Given the description of an element on the screen output the (x, y) to click on. 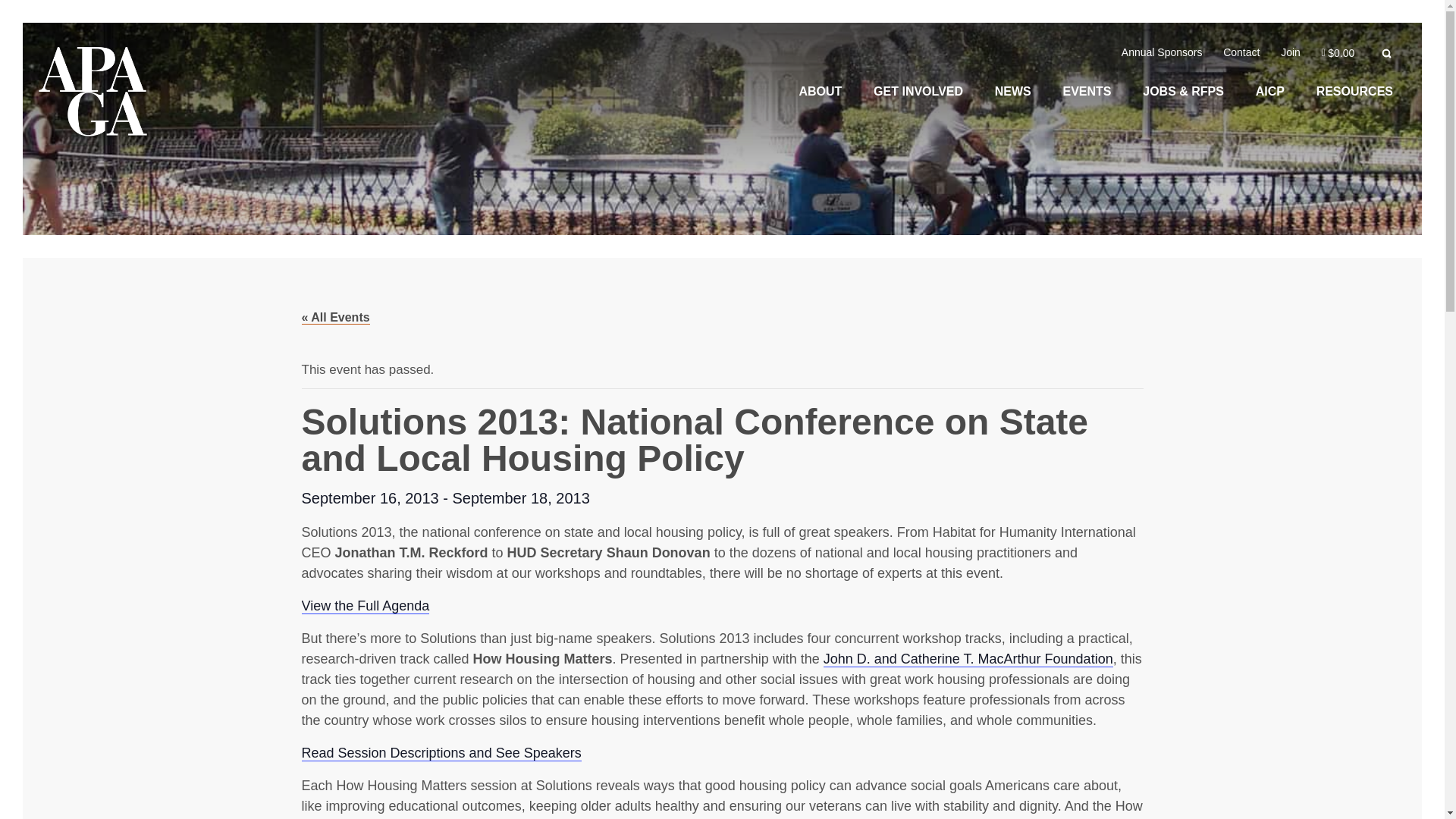
Contact (1240, 52)
Join (1289, 52)
NEWS (1012, 91)
Annual Sponsors (1161, 52)
GET INVOLVED (918, 91)
Georgia Planning Association (92, 94)
Start shopping (1338, 52)
ABOUT (819, 91)
